Given the description of an element on the screen output the (x, y) to click on. 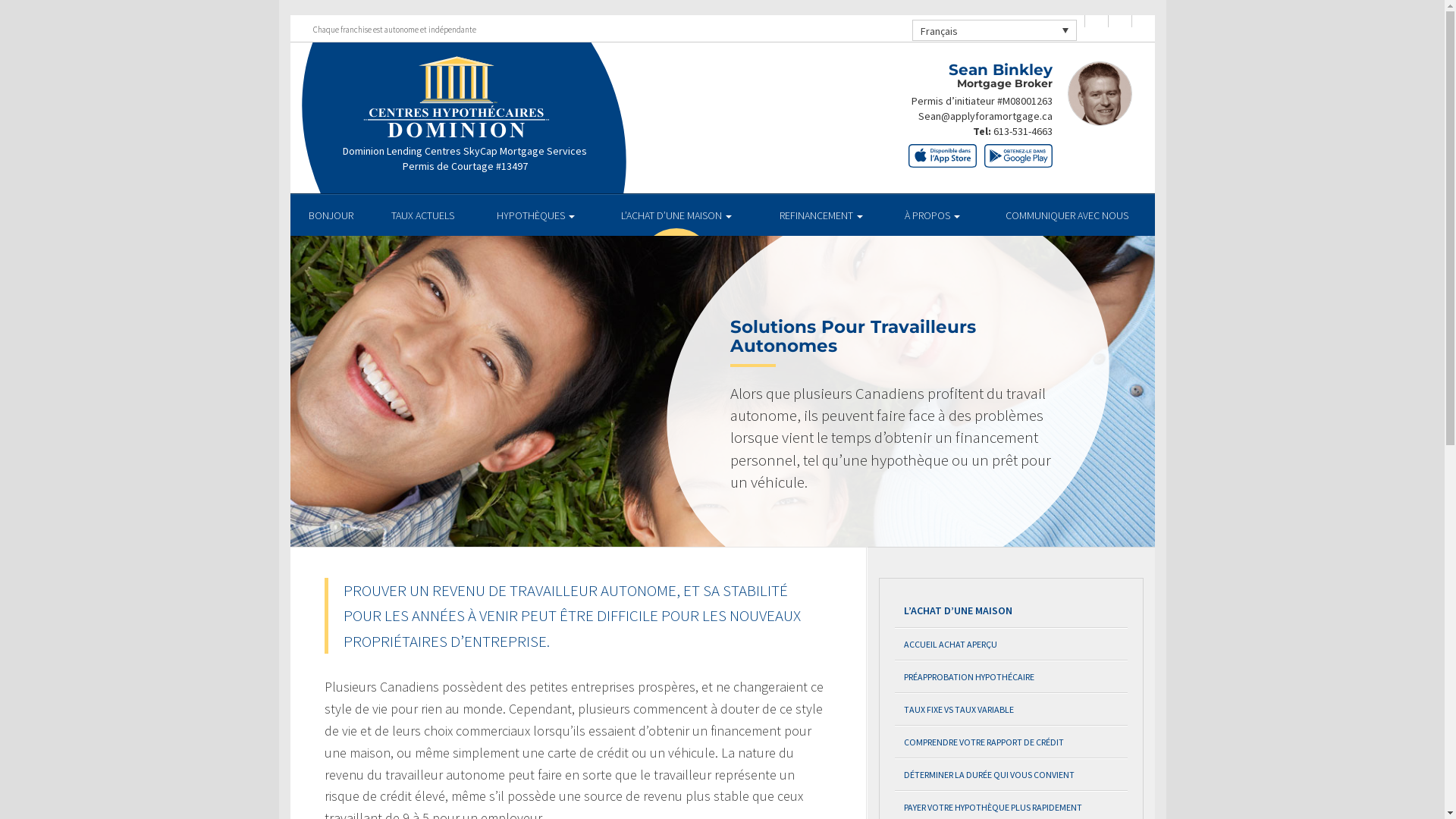
TAUX ACTUELS Element type: text (422, 214)
TAUX FIXE VS TAUX VARIABLE Element type: text (1010, 709)
REFINANCEMENT Element type: text (820, 214)
BONJOUR Element type: text (329, 214)
613-531-4663 Element type: text (1022, 131)
COMMUNIQUER AVEC NOUS Element type: text (1066, 214)
Sean@applyforamortgage.ca Element type: text (984, 115)
